Given the description of an element on the screen output the (x, y) to click on. 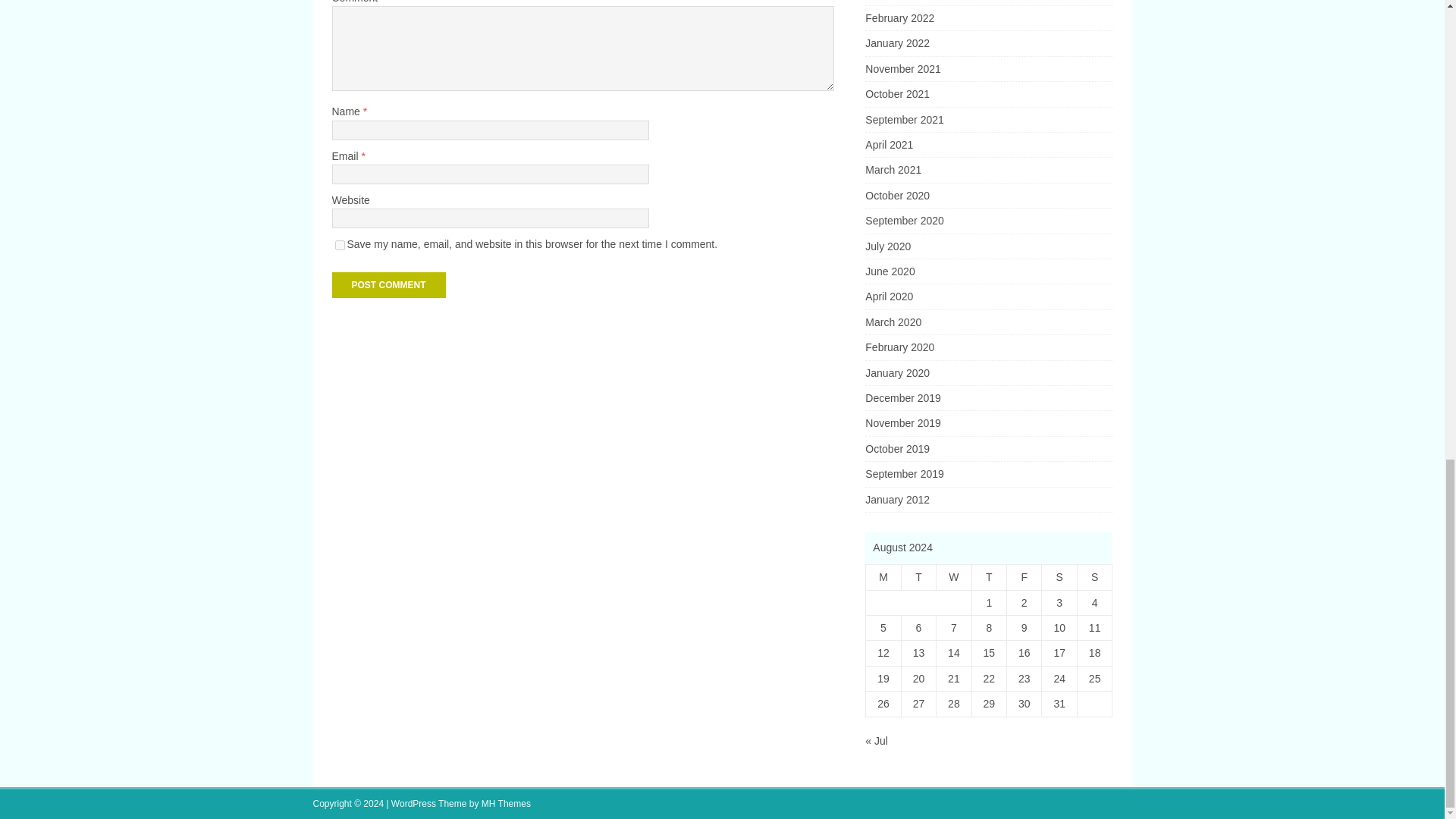
Sunday (1094, 577)
Wednesday (953, 577)
Monday (883, 577)
Post Comment (388, 284)
Tuesday (918, 577)
Saturday (1059, 577)
Friday (1024, 577)
Post Comment (388, 284)
yes (339, 245)
Thursday (988, 577)
